Given the description of an element on the screen output the (x, y) to click on. 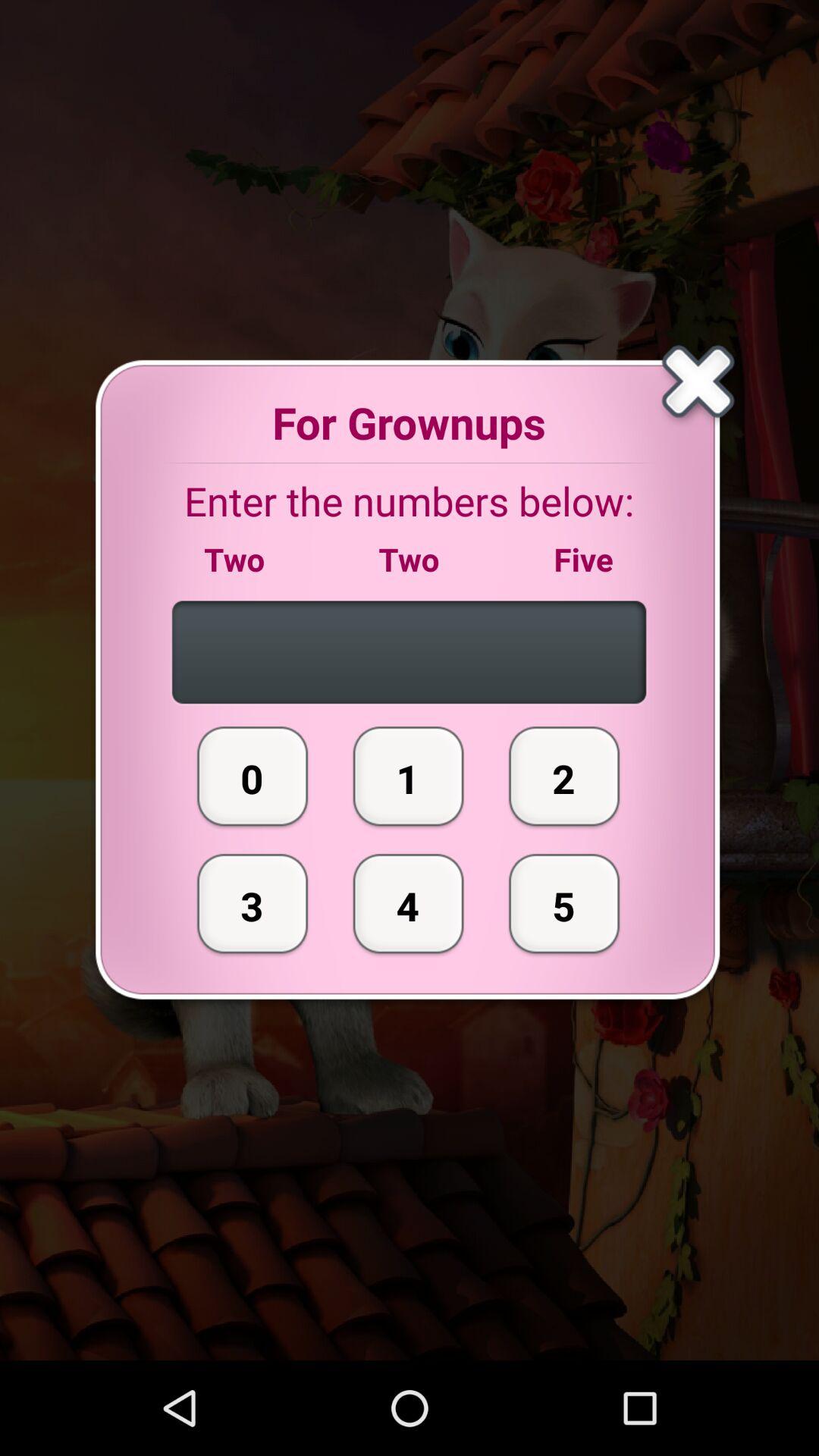
turn off the button next to the 0 icon (408, 903)
